Given the description of an element on the screen output the (x, y) to click on. 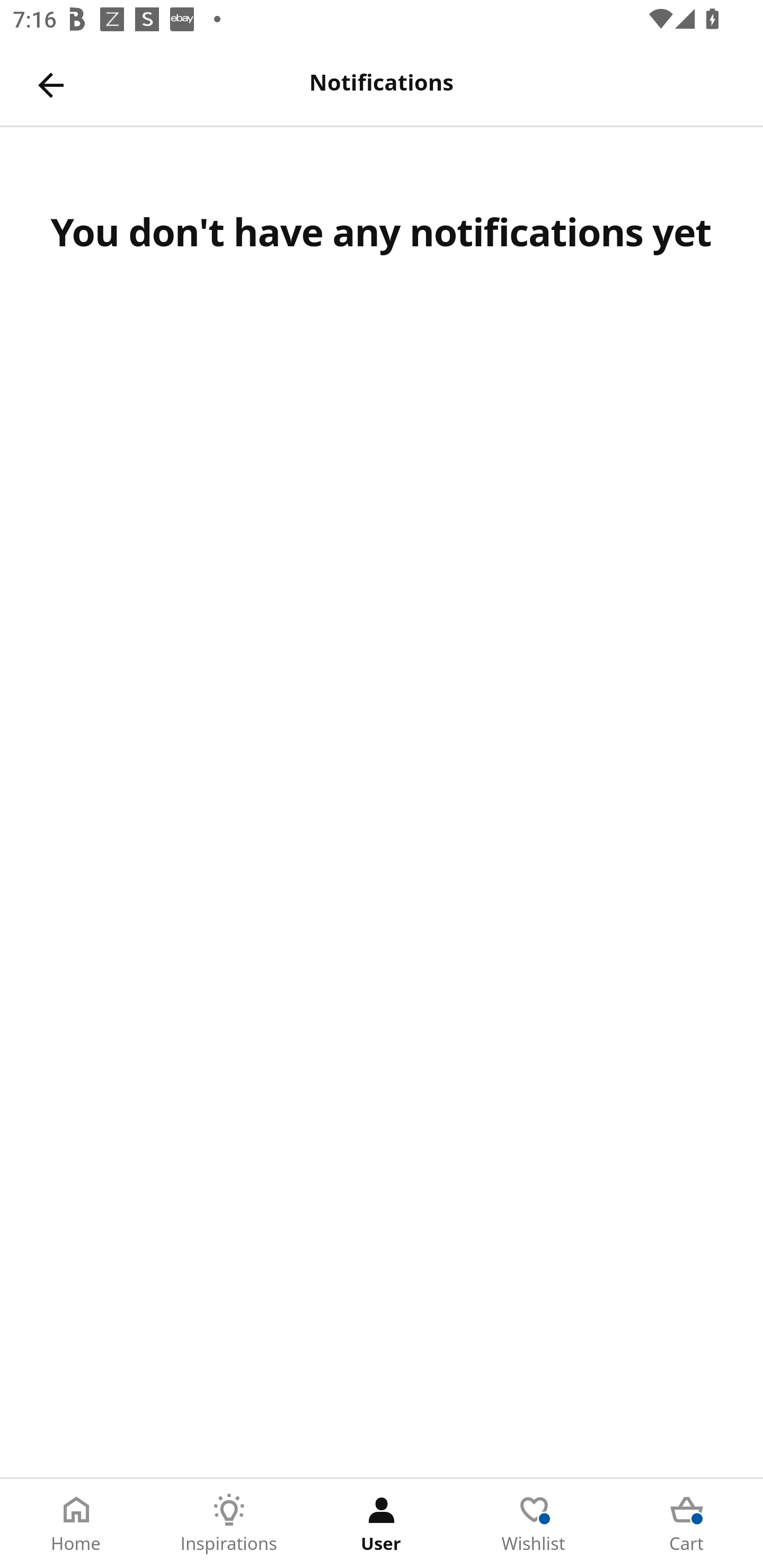
Home
Tab 1 of 5 (76, 1522)
Inspirations
Tab 2 of 5 (228, 1522)
User
Tab 3 of 5 (381, 1522)
Wishlist
Tab 4 of 5 (533, 1522)
Cart
Tab 5 of 5 (686, 1522)
